Given the description of an element on the screen output the (x, y) to click on. 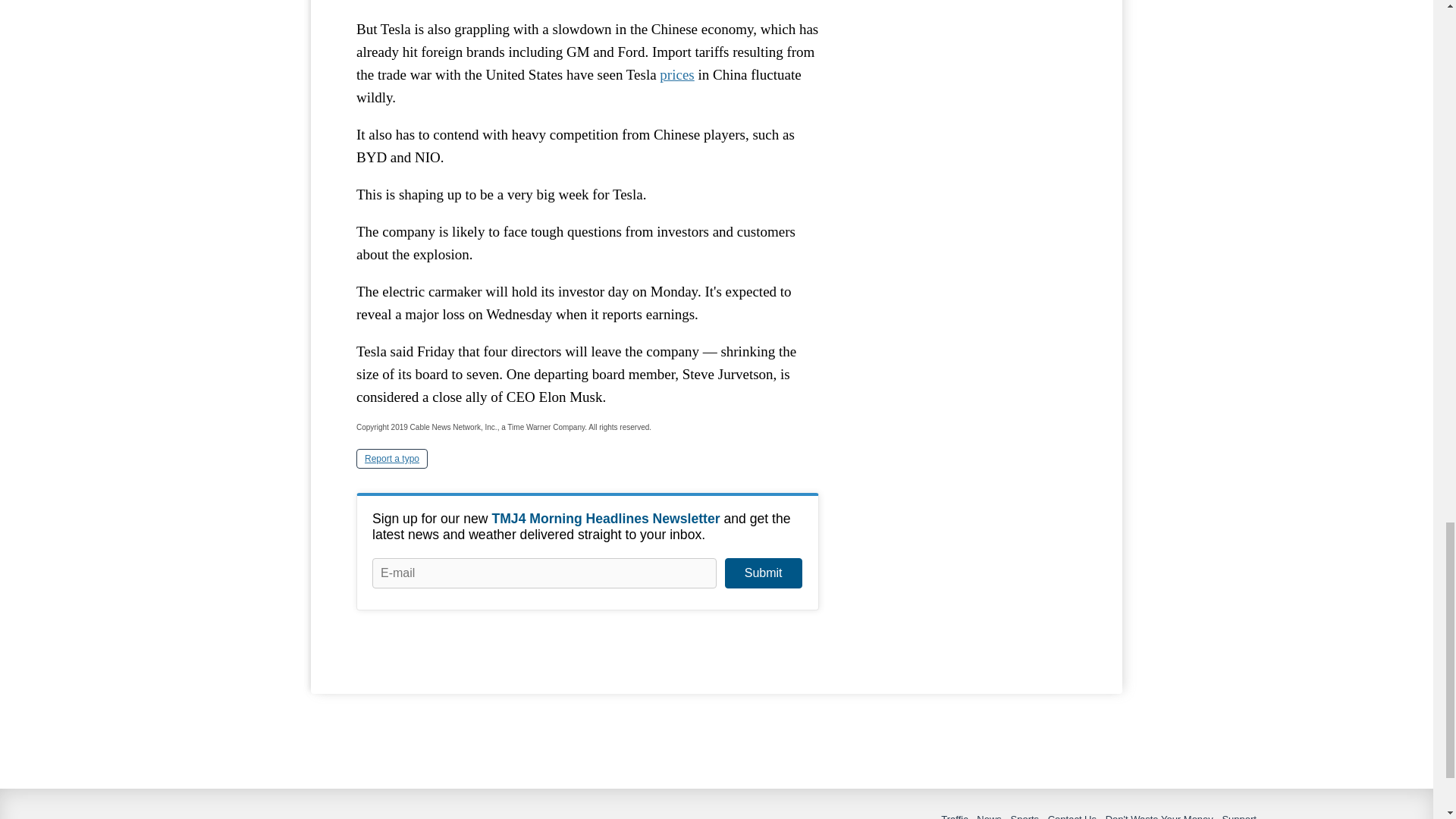
Submit (763, 572)
